Given the description of an element on the screen output the (x, y) to click on. 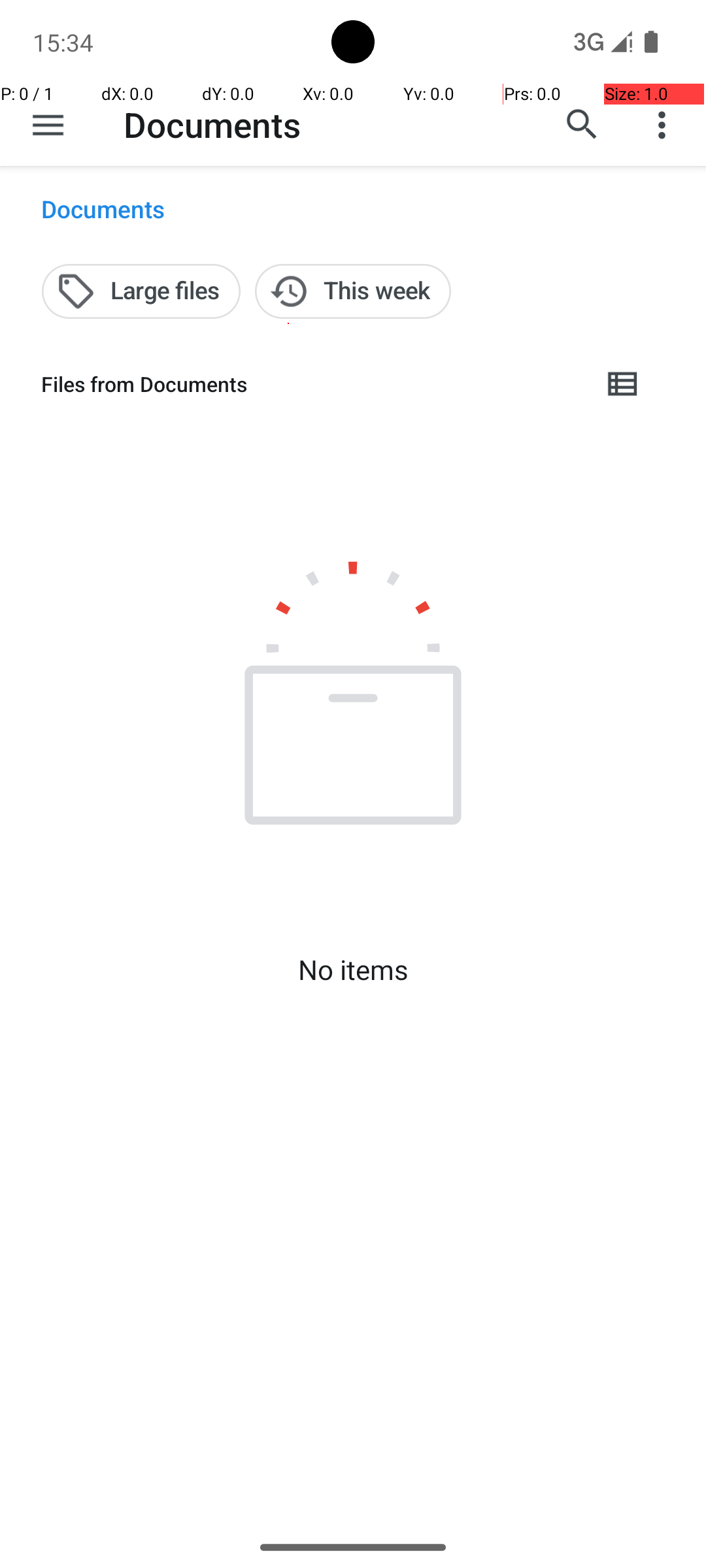
Files from Documents Element type: android.widget.TextView (311, 383)
